Given the description of an element on the screen output the (x, y) to click on. 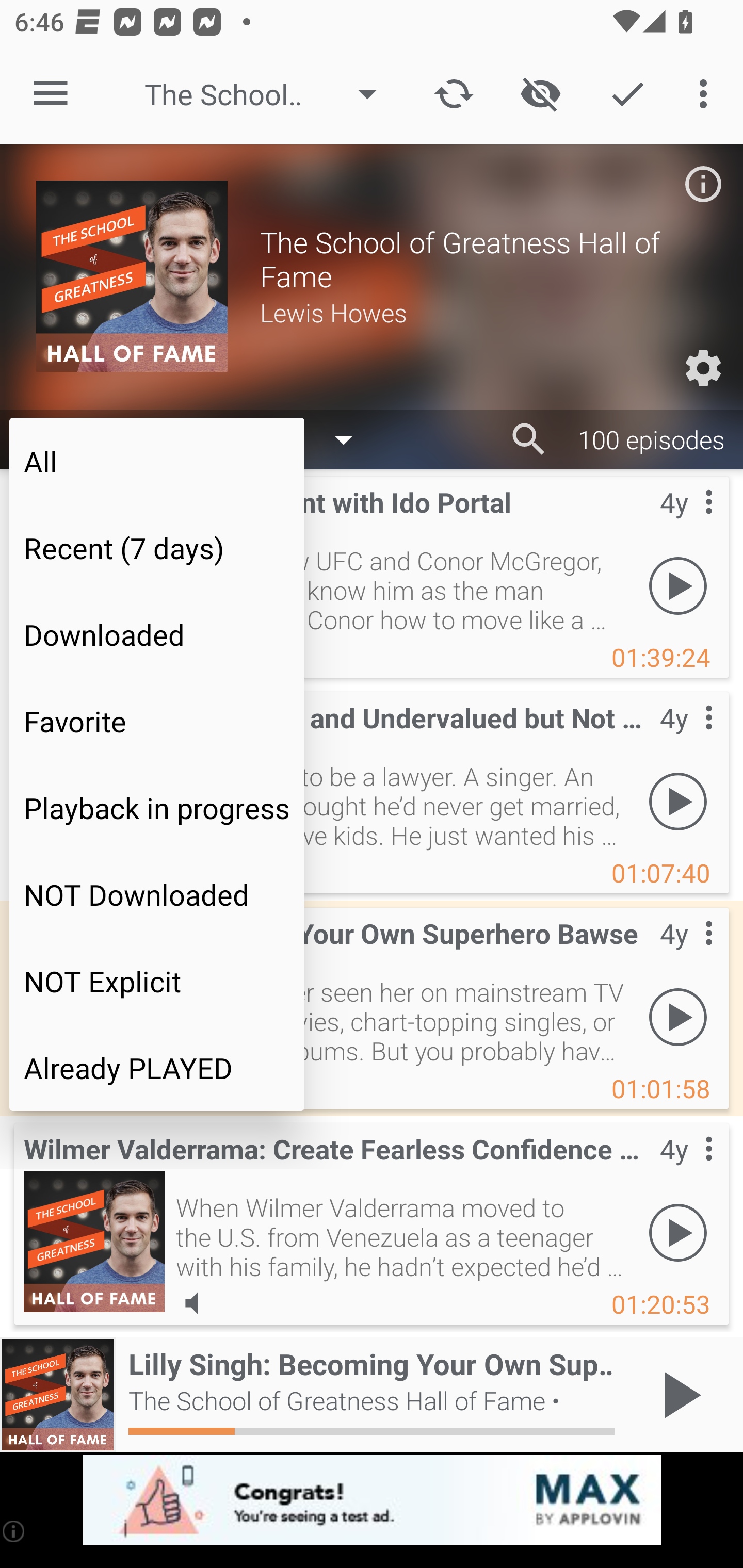
All (156, 460)
Recent (7 days) (156, 547)
Downloaded (156, 634)
Favorite (156, 721)
Playback in progress (156, 808)
NOT Downloaded (156, 894)
NOT Explicit (156, 980)
Already PLAYED (156, 1067)
